Given the description of an element on the screen output the (x, y) to click on. 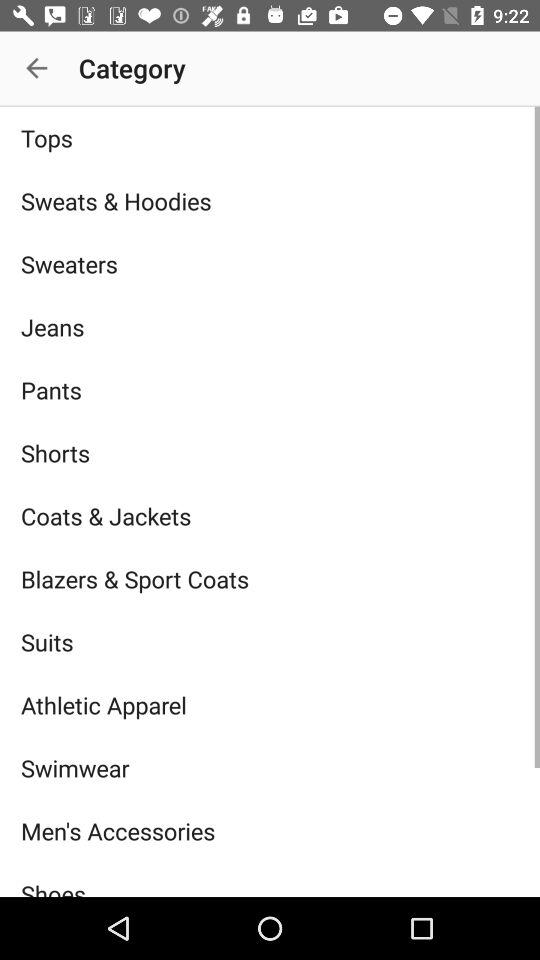
select men's accessories (270, 830)
